Given the description of an element on the screen output the (x, y) to click on. 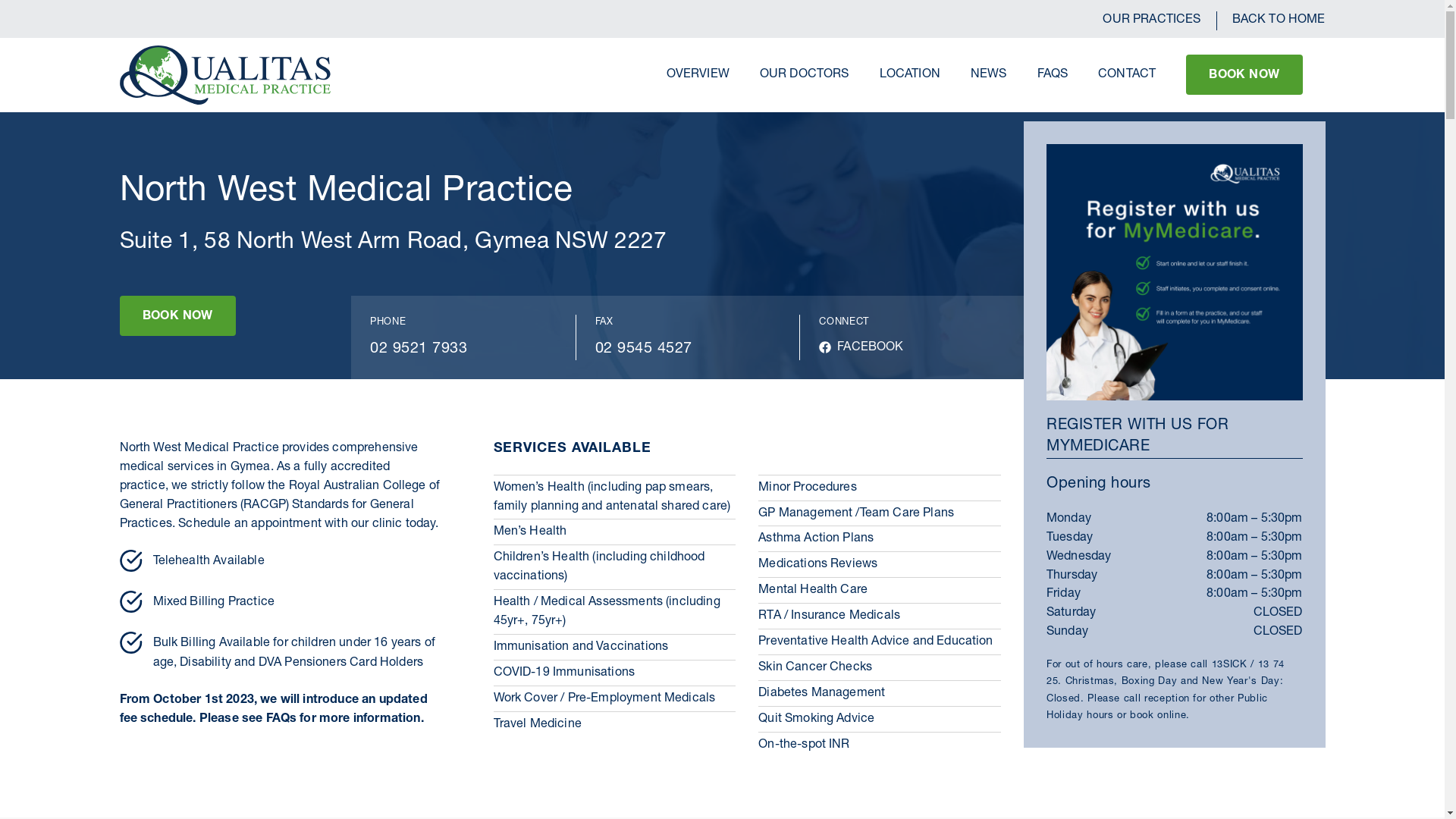
FAQS Element type: text (1052, 74)
Qualitas Health Element type: hover (225, 74)
LOCATION Element type: text (909, 74)
OUR DOCTORS Element type: text (804, 74)
BOOK NOW Element type: text (177, 315)
BOOK NOW Element type: text (1244, 74)
REGISTER WITH US FOR MYMEDICARE Element type: text (1174, 436)
FACEBOOK Element type: text (861, 347)
BACK TO HOME Element type: text (1270, 20)
NEWS Element type: text (988, 74)
OUR PRACTICES Element type: text (1151, 20)
CONTACT Element type: text (1126, 74)
OVERVIEW Element type: text (697, 74)
